Given the description of an element on the screen output the (x, y) to click on. 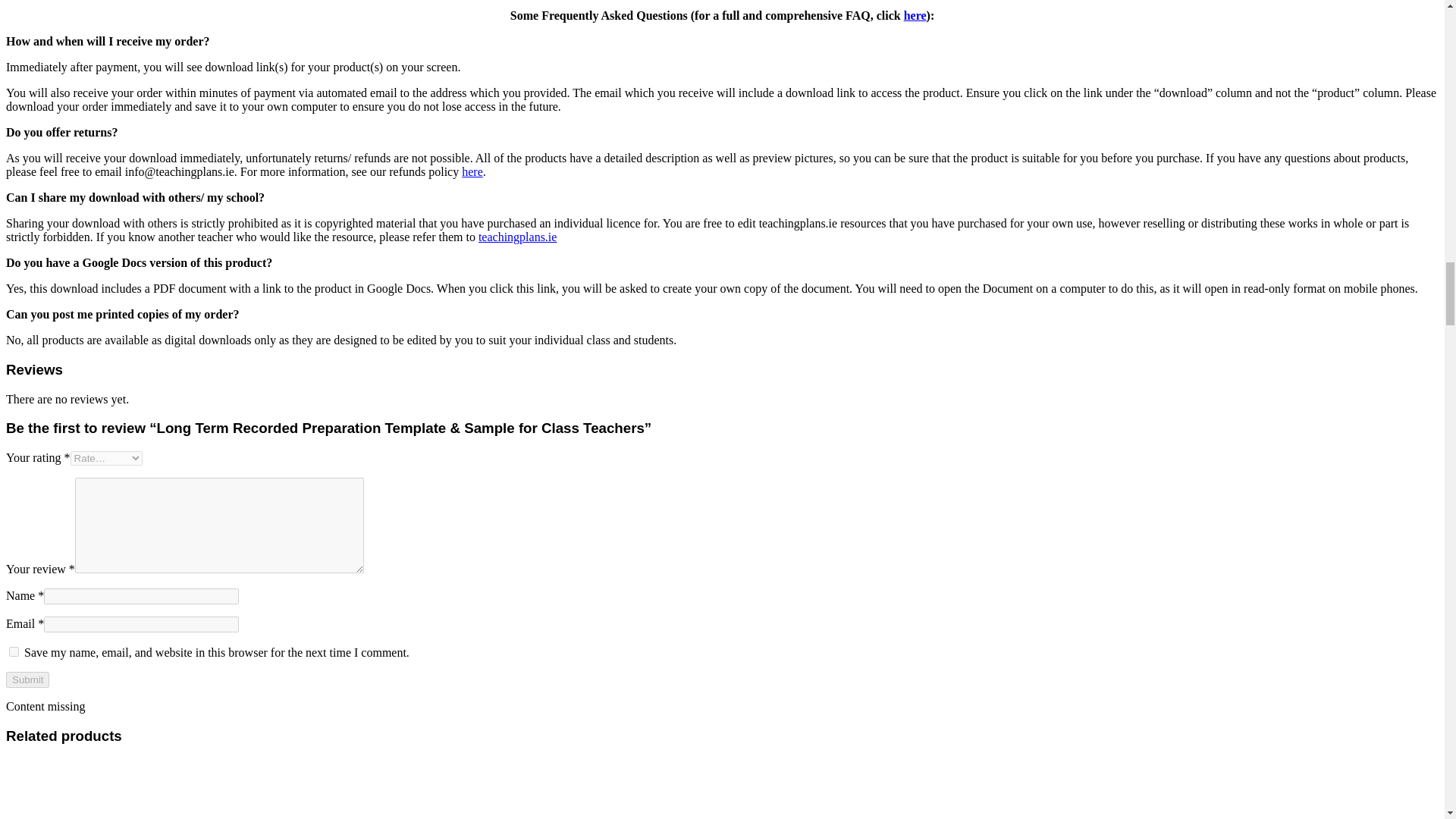
Submit (27, 679)
yes (13, 651)
